Given the description of an element on the screen output the (x, y) to click on. 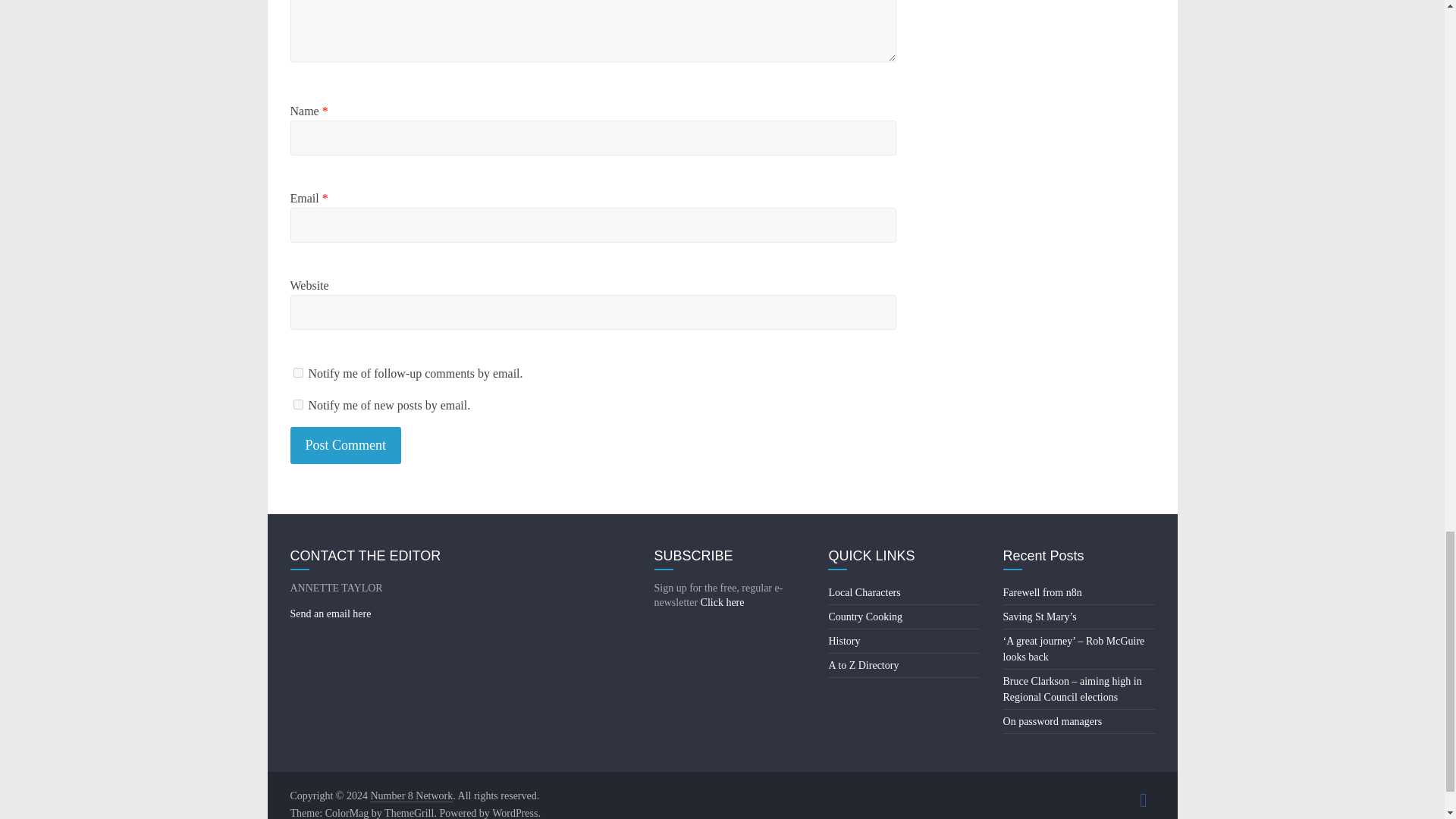
Post Comment (345, 445)
subscribe (297, 404)
subscribe (297, 372)
